Given the description of an element on the screen output the (x, y) to click on. 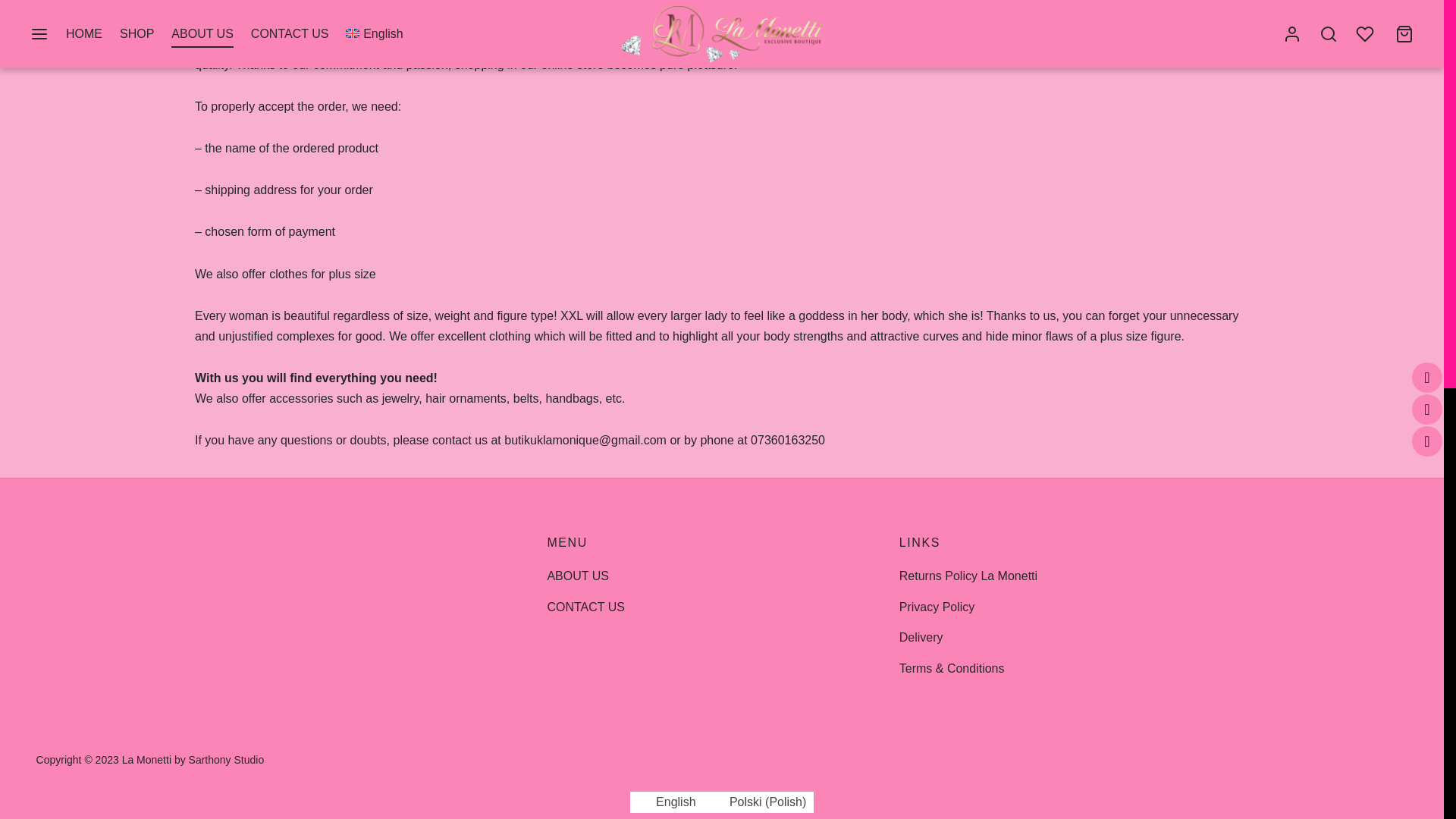
Webdesign ecommerce (226, 759)
Delivery (921, 637)
Privacy Policy (937, 606)
Returns Policy La Monetti (967, 576)
Scroll To Top (1413, 98)
Sarthony Studio (226, 759)
ABOUT US (577, 576)
CONTACT US (585, 606)
